Given the description of an element on the screen output the (x, y) to click on. 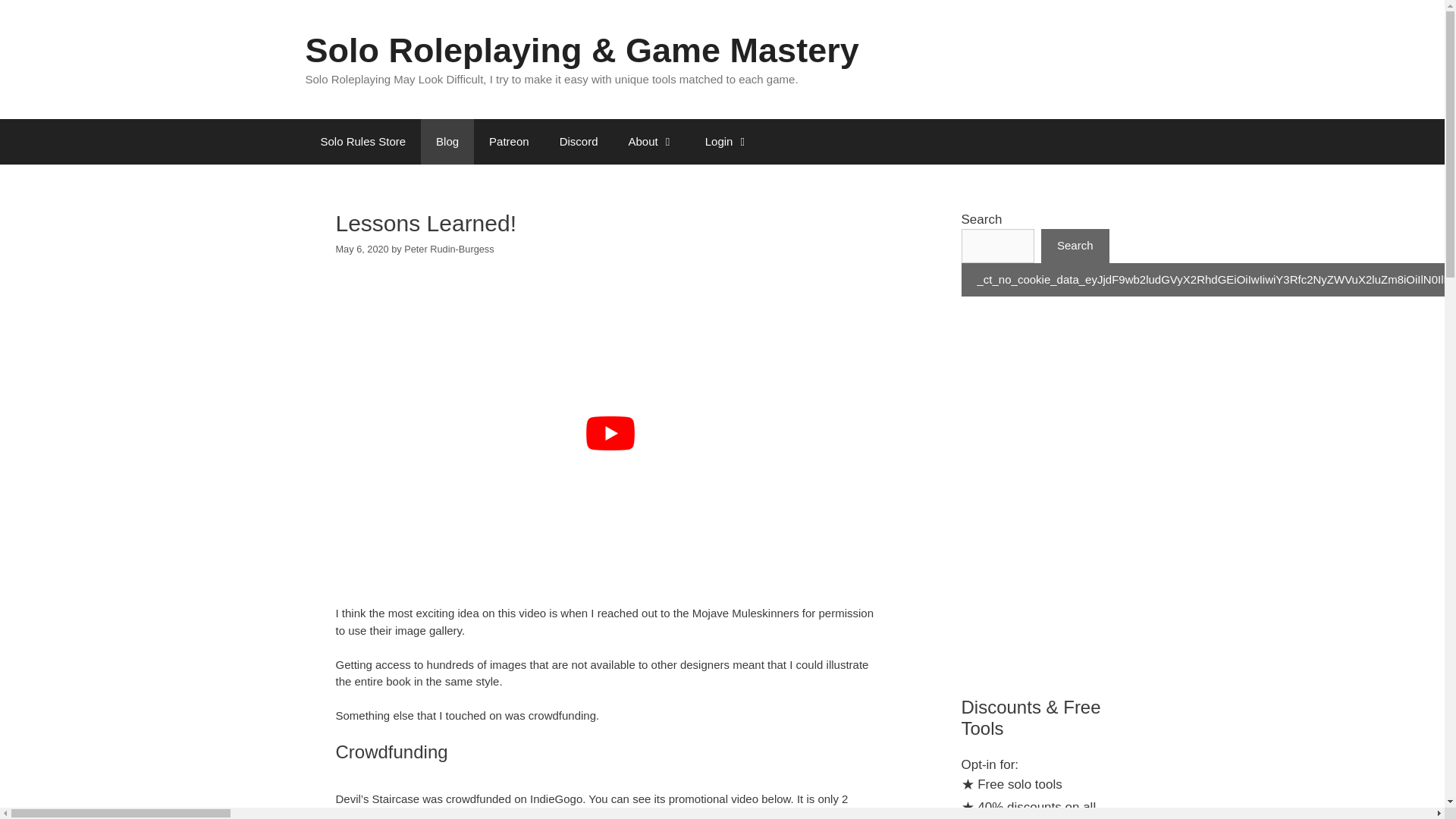
Solo Rules Store (362, 140)
Blog (447, 140)
View all posts by Peter Rudin-Burgess (448, 248)
Peter Rudin-Burgess (448, 248)
Search (1075, 245)
About (650, 140)
Patreon (509, 140)
Discord (578, 140)
Login (727, 140)
